Given the description of an element on the screen output the (x, y) to click on. 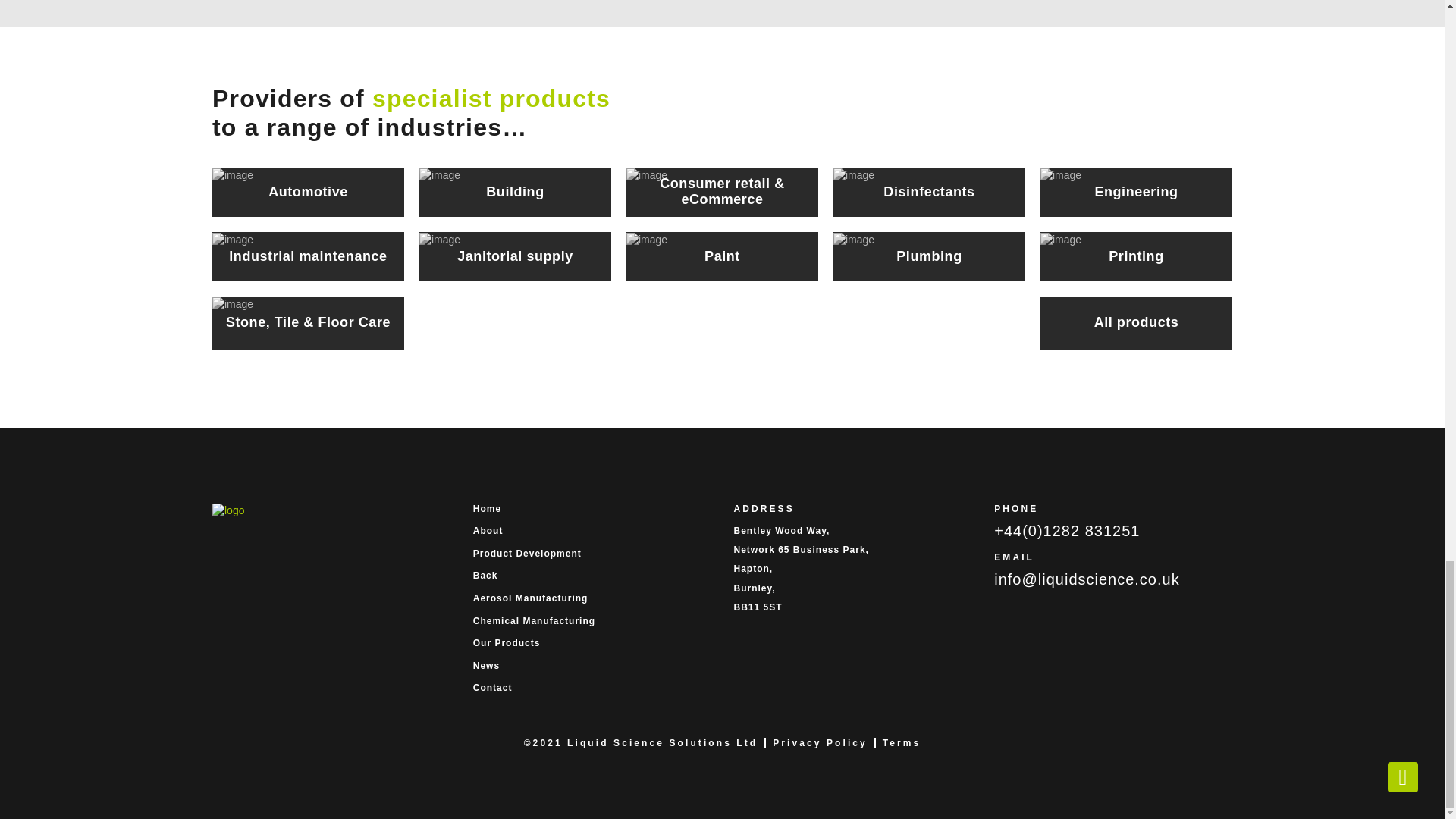
About (592, 530)
Janitorial supply (515, 256)
Plumbing (928, 256)
Paint (722, 256)
Automotive (308, 192)
Aerosol Manufacturing (592, 597)
Industrial maintenance (308, 256)
Building (515, 192)
Disinfectants (928, 192)
All products (1136, 323)
